Given the description of an element on the screen output the (x, y) to click on. 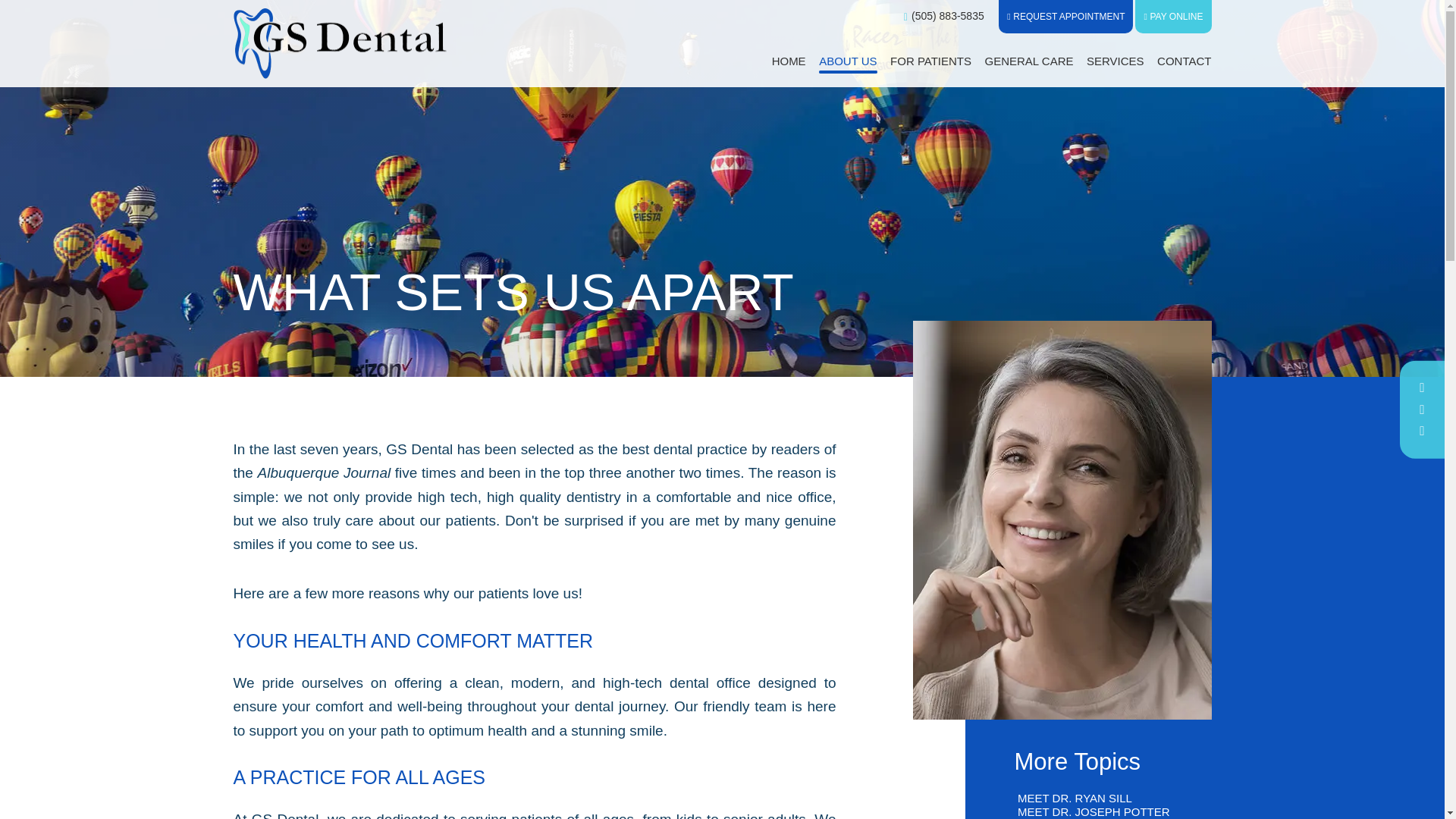
FOR PATIENTS (930, 60)
HOME (788, 60)
PAY ONLINE (1173, 16)
SERVICES (1115, 60)
GENERAL CARE (1029, 60)
CONTACT (1184, 60)
REQUEST APPOINTMENT (1065, 16)
MEET DR. JOSEPH POTTER (1101, 812)
MEET DR. RYAN SILL (1101, 798)
ABOUT US (847, 60)
